Given the description of an element on the screen output the (x, y) to click on. 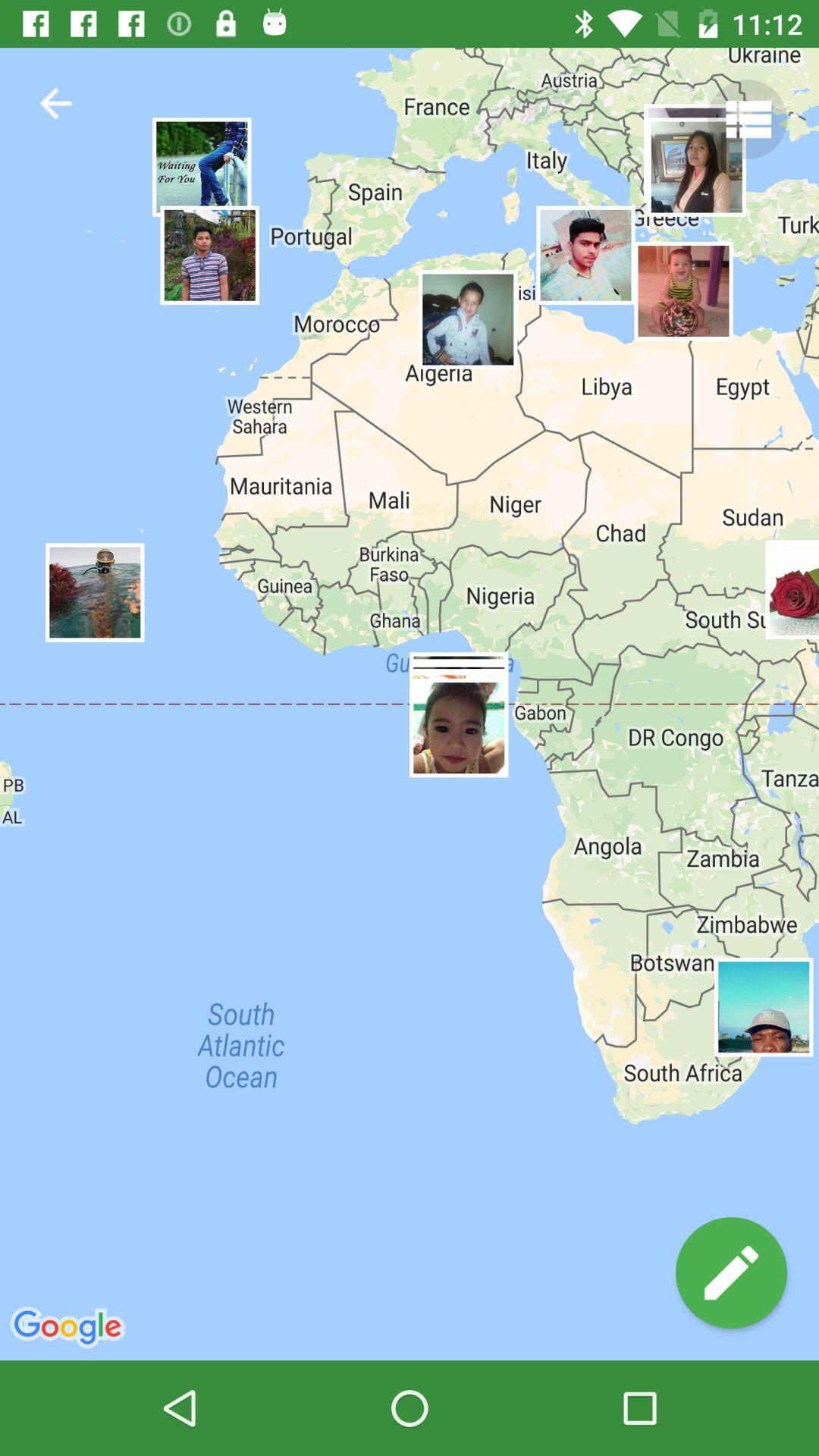
write comment (731, 1272)
